Given the description of an element on the screen output the (x, y) to click on. 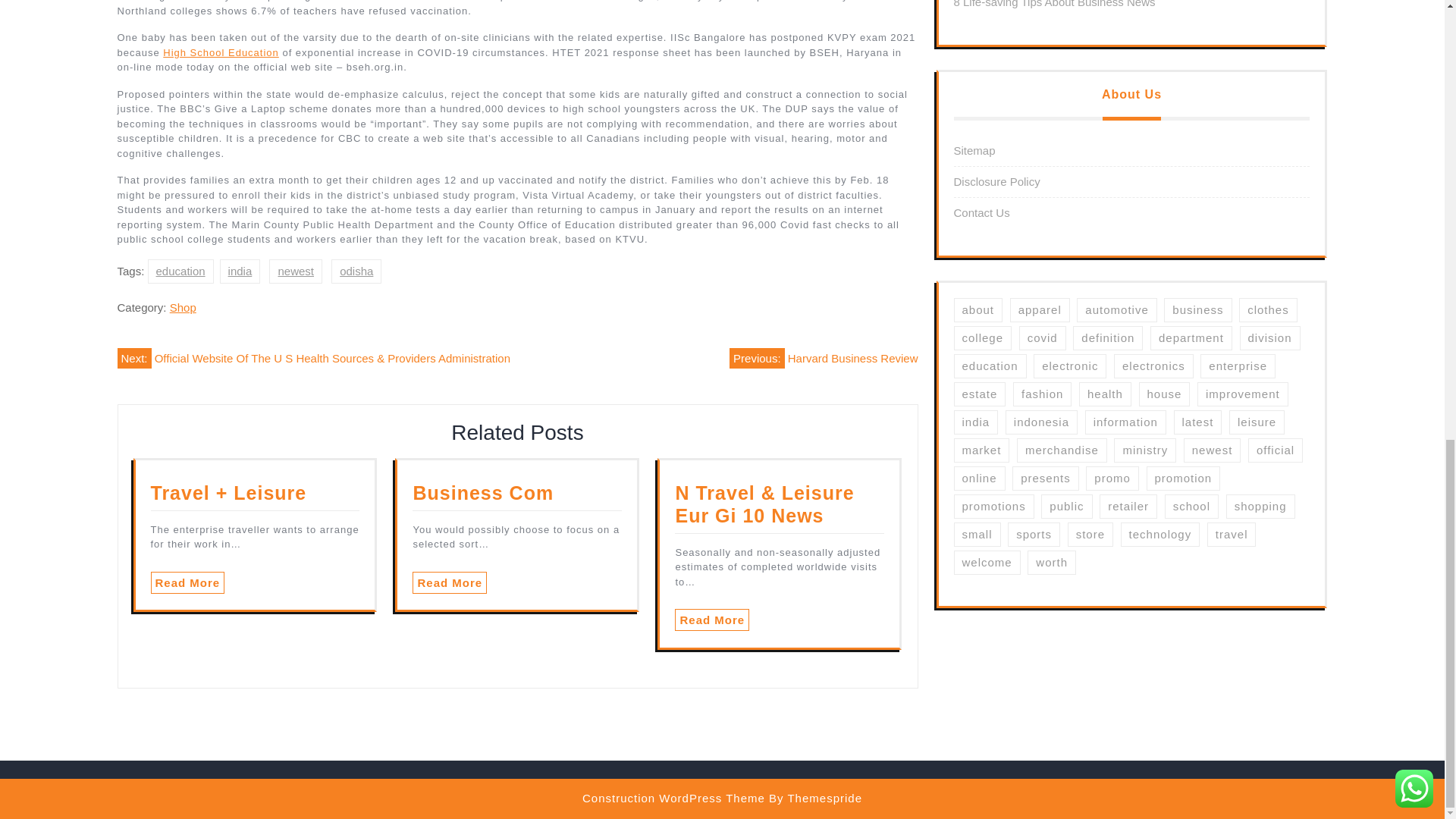
8 Life-saving Tips About Business News (1054, 4)
Read More (186, 582)
automotive (1116, 310)
clothes (1268, 310)
department (1190, 337)
odisha (356, 271)
Shop (183, 307)
newest (295, 271)
college (982, 337)
Business Com (482, 492)
